Given the description of an element on the screen output the (x, y) to click on. 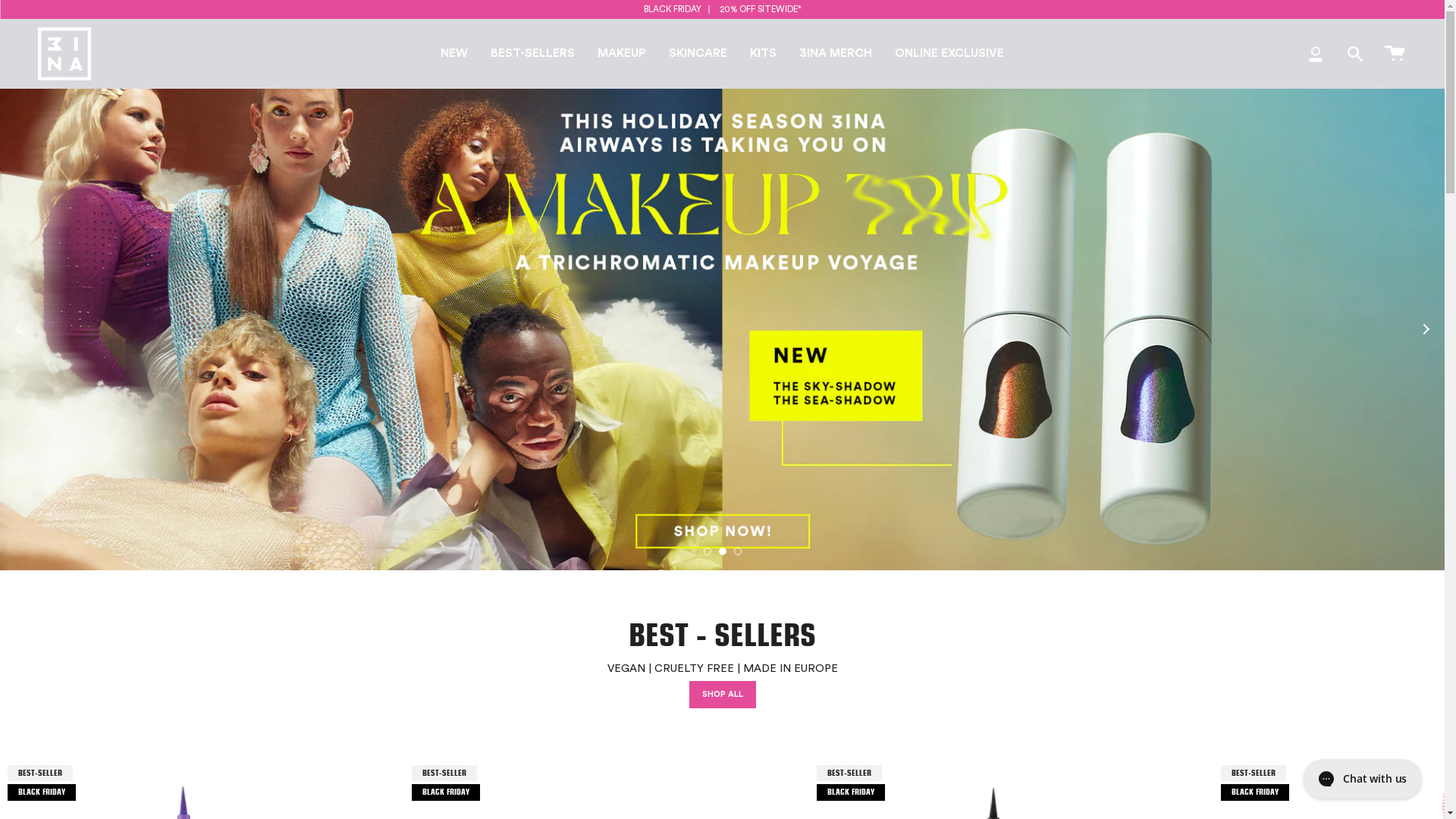
MAKEUP Element type: text (621, 53)
3INA MERCH Element type: text (835, 53)
BEST-SELLERS Element type: text (532, 53)
ONLINE EXCLUSIVE Element type: text (949, 53)
BEST - SELLERS
VEGAN | CRUELTY FREE | MADE IN EUROPE Element type: text (721, 634)
Cart Element type: text (1394, 53)
SHOP ALL Element type: text (721, 694)
SKINCARE Element type: text (697, 53)
KITS Element type: text (762, 53)
NEW Element type: text (454, 53)
Search Element type: text (1354, 53)
Gorgias live chat messenger Element type: hover (1362, 778)
My Account Element type: text (1315, 53)
